Given the description of an element on the screen output the (x, y) to click on. 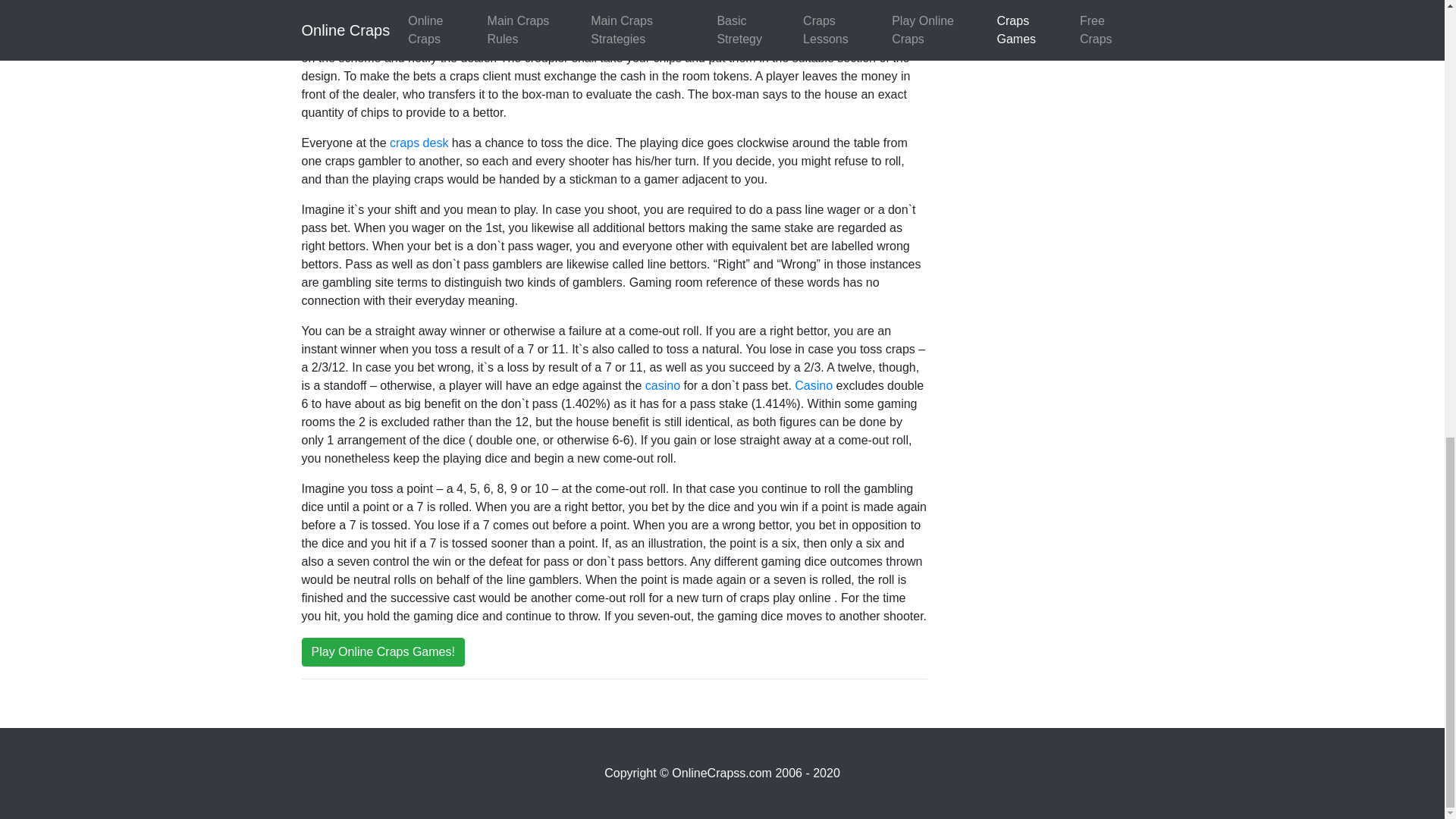
craps desk (419, 142)
casino (662, 385)
Play Online Craps Games! (382, 652)
Casino (812, 385)
